Given the description of an element on the screen output the (x, y) to click on. 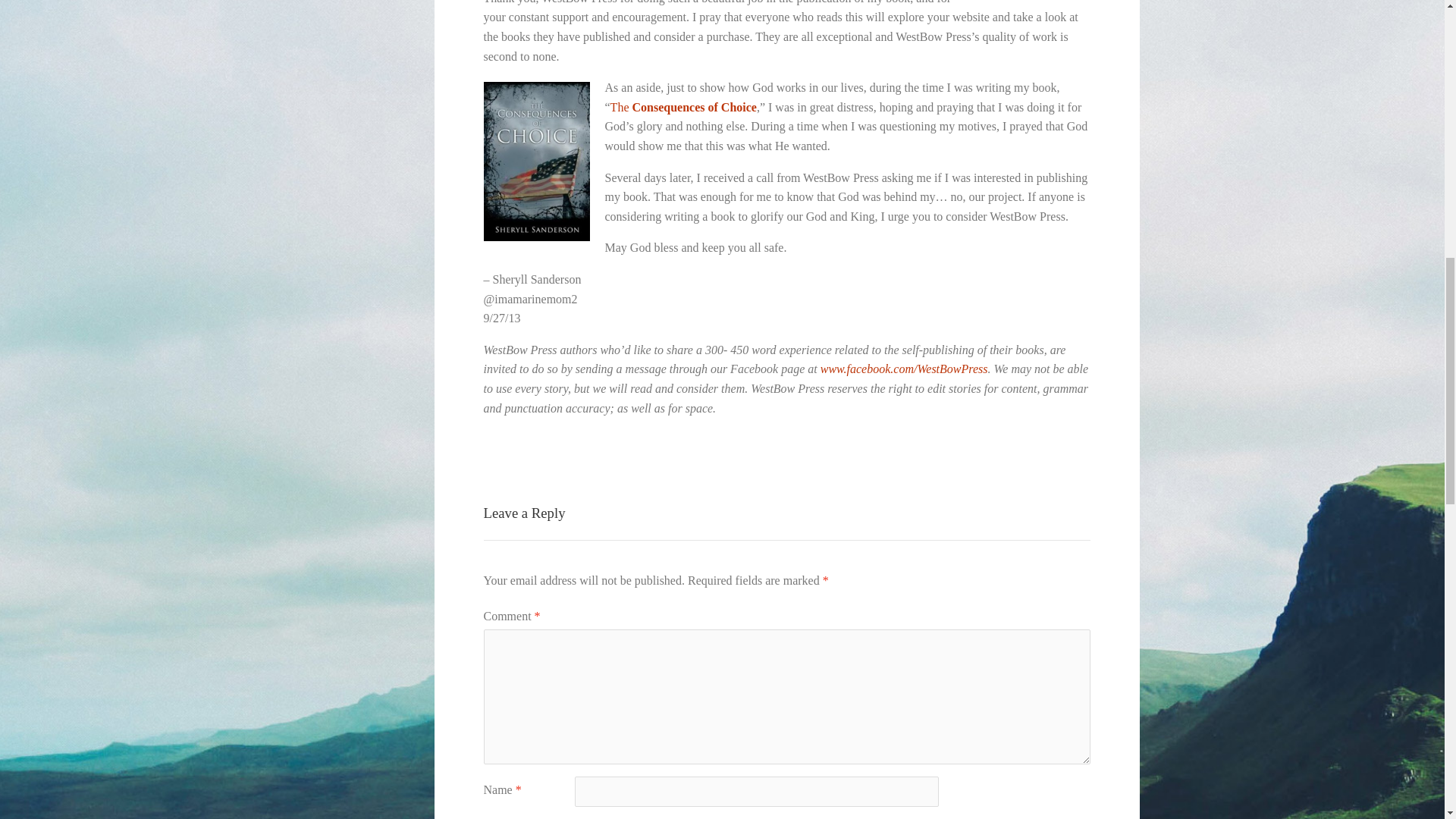
The (619, 106)
The Consequences of Choice (619, 106)
The Consequences of Choice (691, 106)
Consequences of Choice (691, 106)
